Given the description of an element on the screen output the (x, y) to click on. 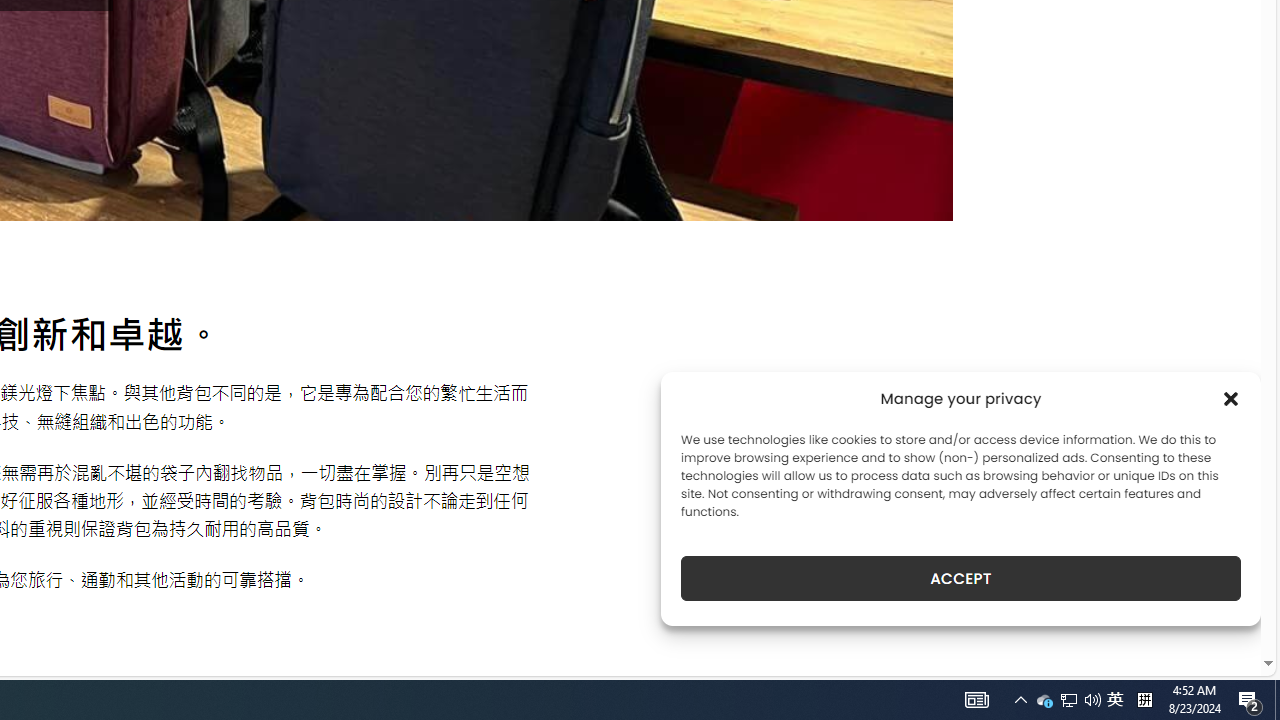
ACCEPT (960, 578)
Class: cmplz-close (1231, 398)
